Given the description of an element on the screen output the (x, y) to click on. 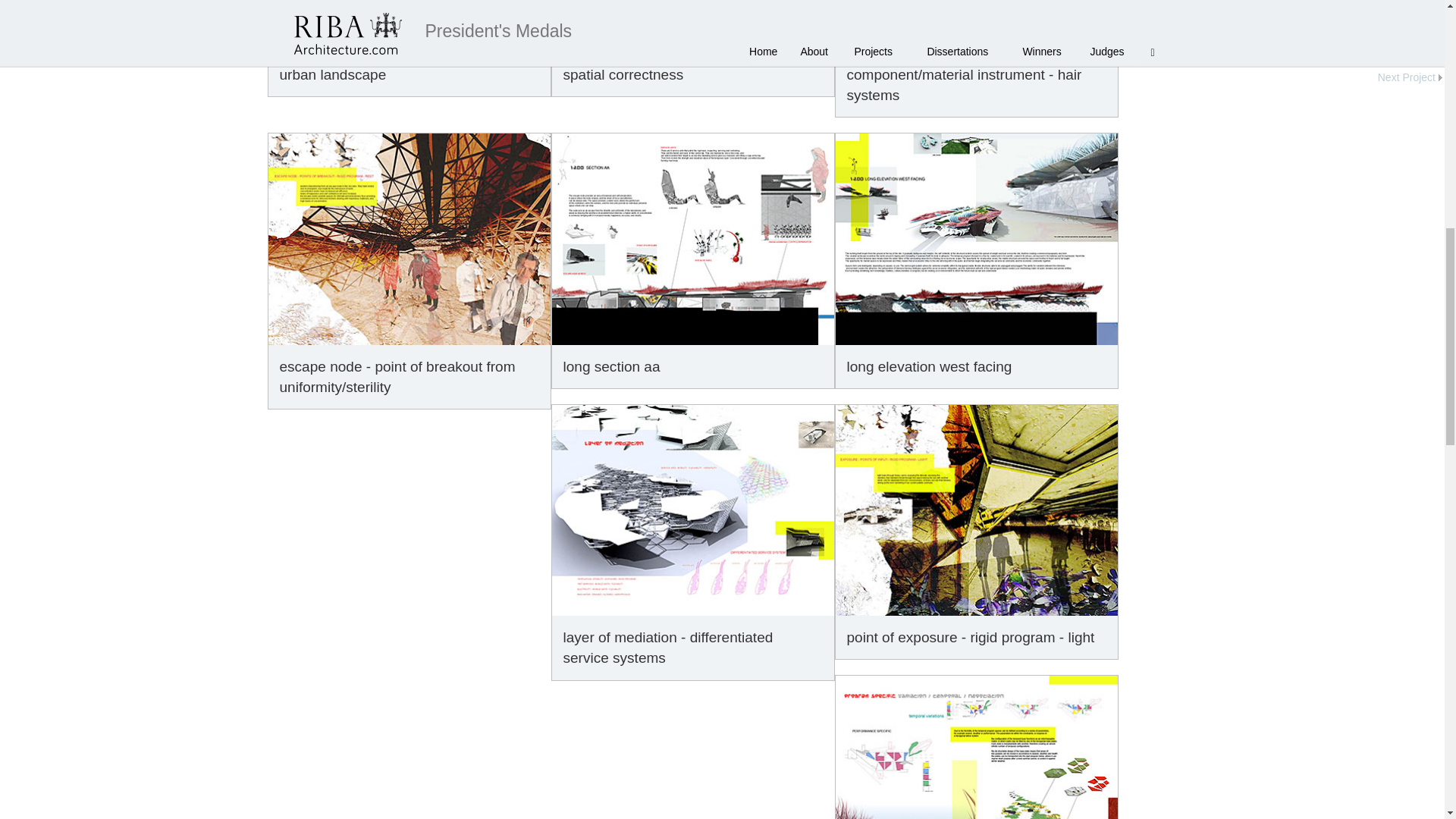
long elevation west facing (976, 238)
conceptual visualisation of the created urban landscape (408, 15)
temporal variation - interchangable matrix (976, 747)
volumetric study into reconfiguring spatial correctness (692, 15)
layer of mediation - differentiated service systems (692, 509)
long section aa (692, 238)
point of exposure - rigid program - light (976, 509)
